Given the description of an element on the screen output the (x, y) to click on. 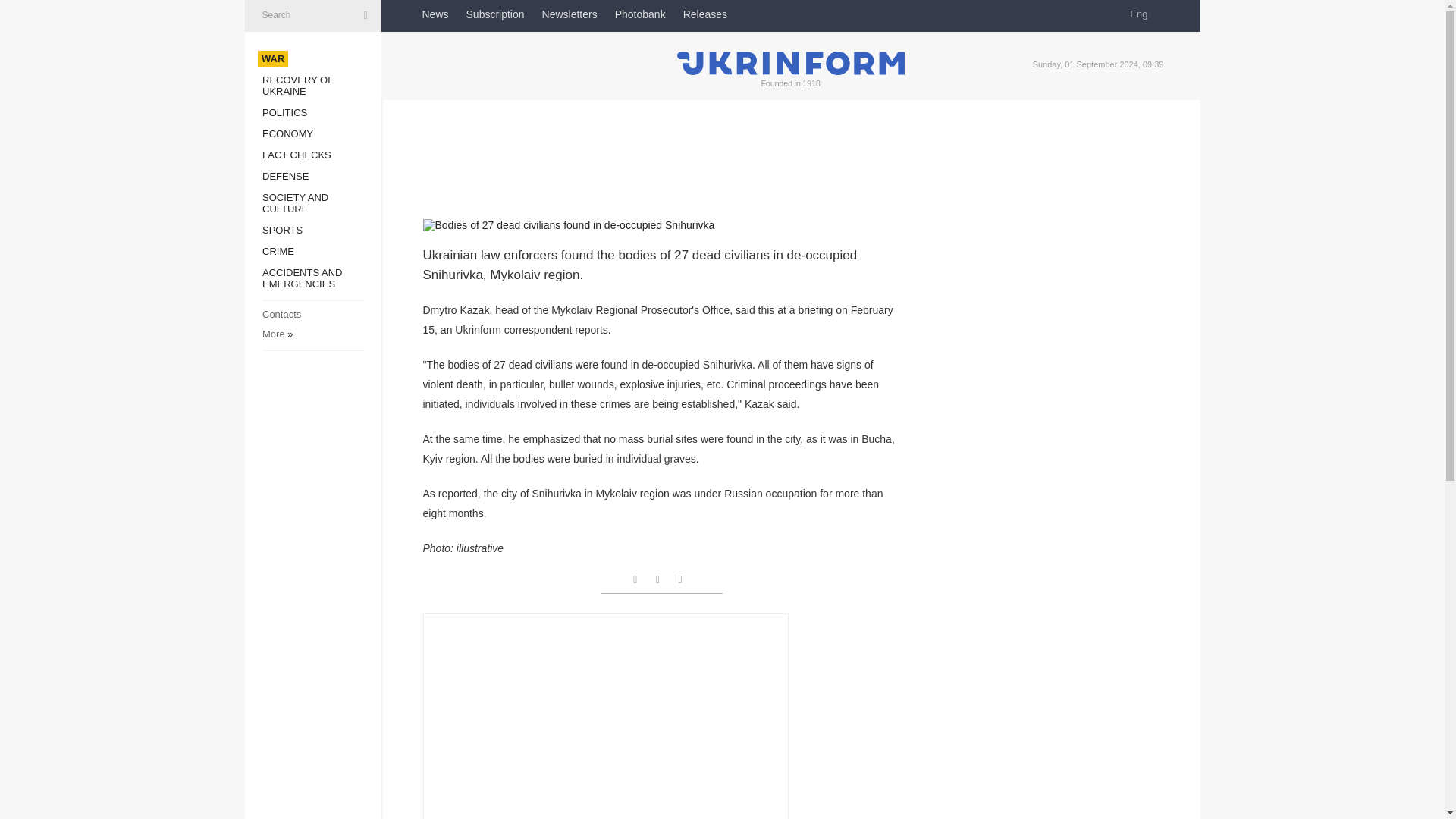
CRIME (278, 251)
SOCIETY AND CULTURE (295, 202)
More (273, 333)
Photobank (639, 14)
RECOVERY OF UKRAINE (297, 85)
FACT CHECKS (296, 154)
Subscription (494, 14)
ECONOMY (287, 133)
ACCIDENTS AND EMERGENCIES (302, 277)
Eng (1143, 14)
